Given the description of an element on the screen output the (x, y) to click on. 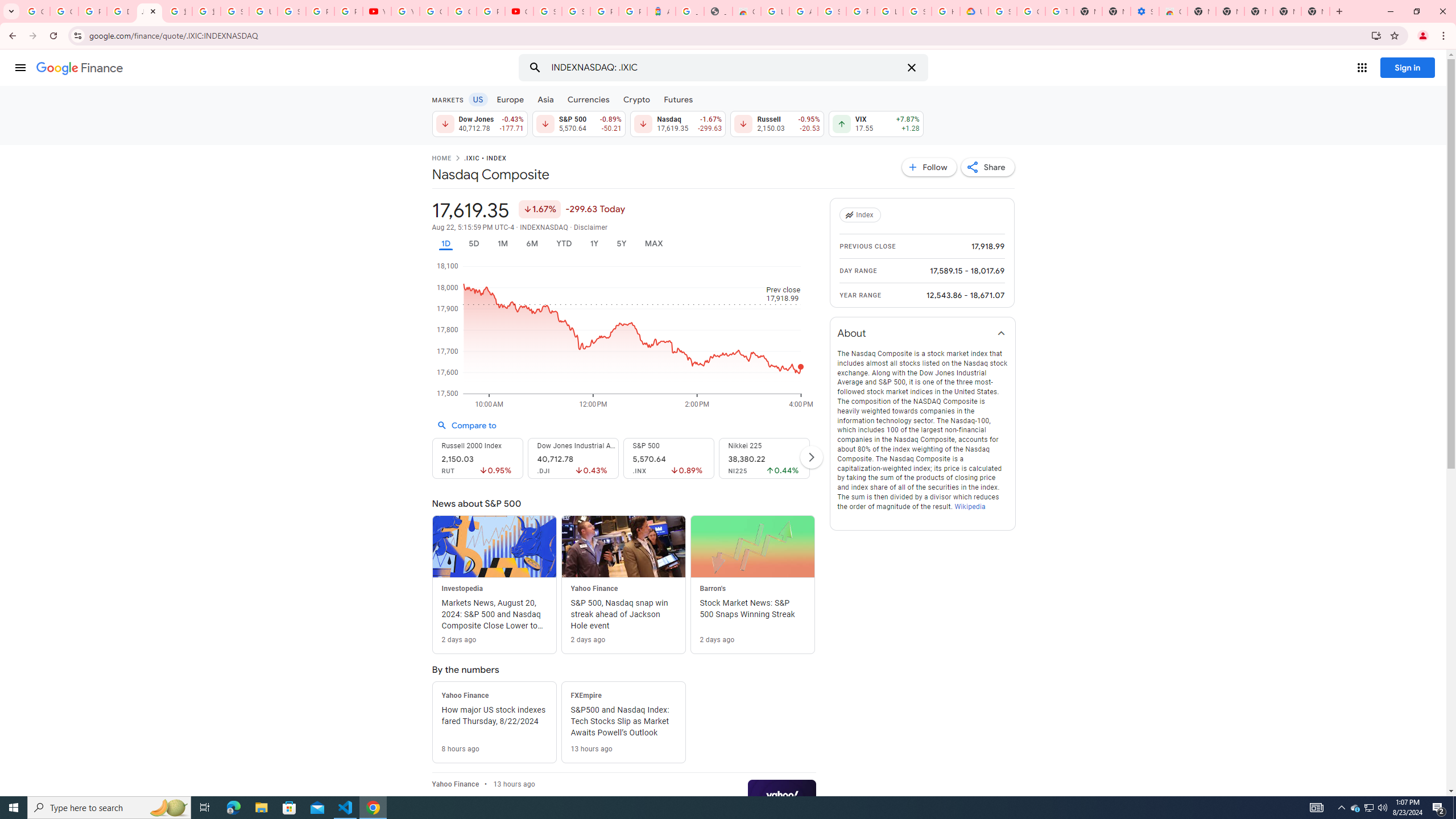
YTD (563, 243)
5Y (621, 243)
About (923, 332)
Main menu (20, 67)
HOME (440, 158)
Disclaimer (590, 227)
Settings - Accessibility (1144, 11)
Privacy Checkup (348, 11)
5D (473, 243)
Sign in - Google Accounts (291, 11)
